Given the description of an element on the screen output the (x, y) to click on. 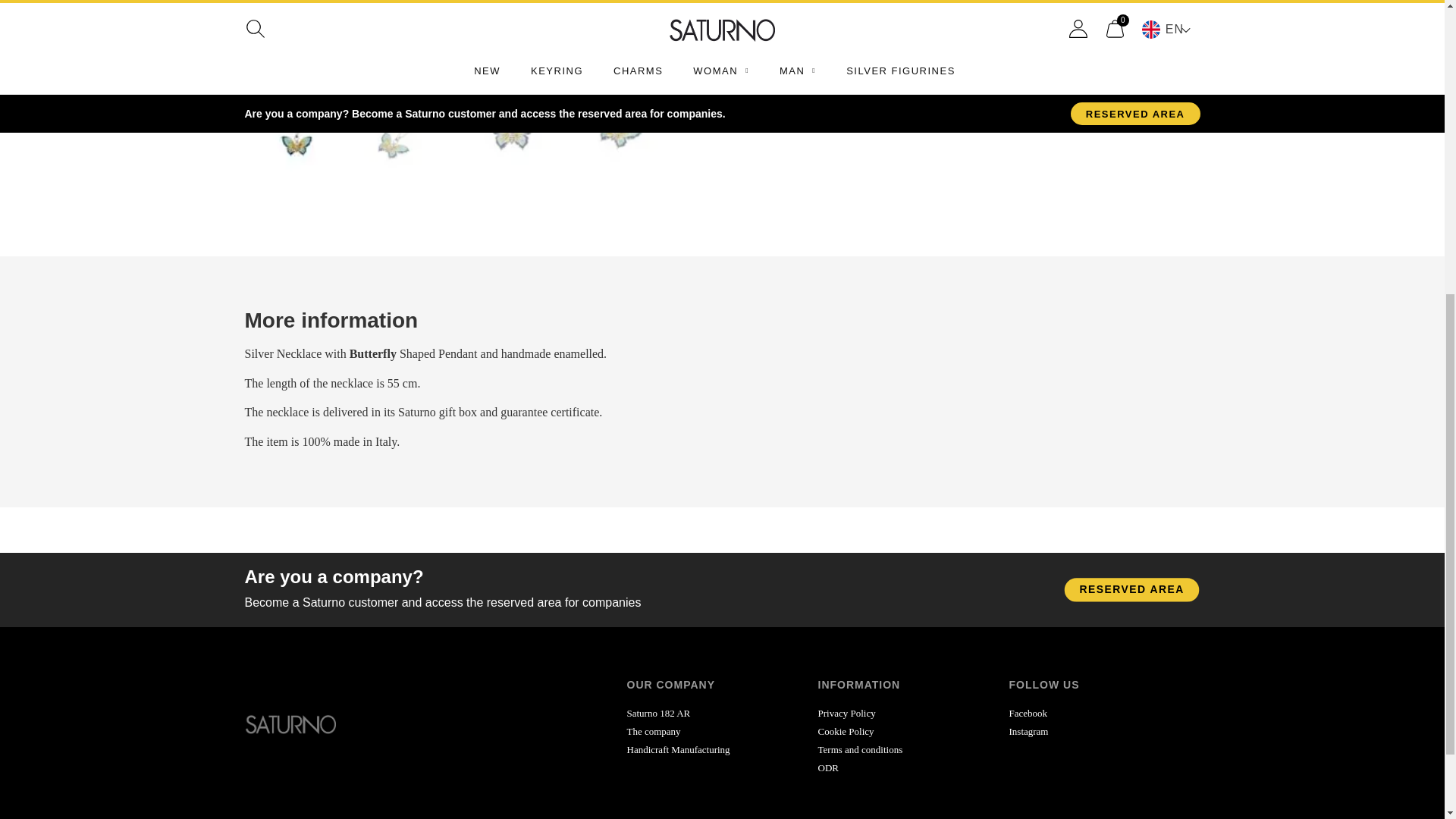
CS 30 B2C COLLANA (459, 39)
